Given the description of an element on the screen output the (x, y) to click on. 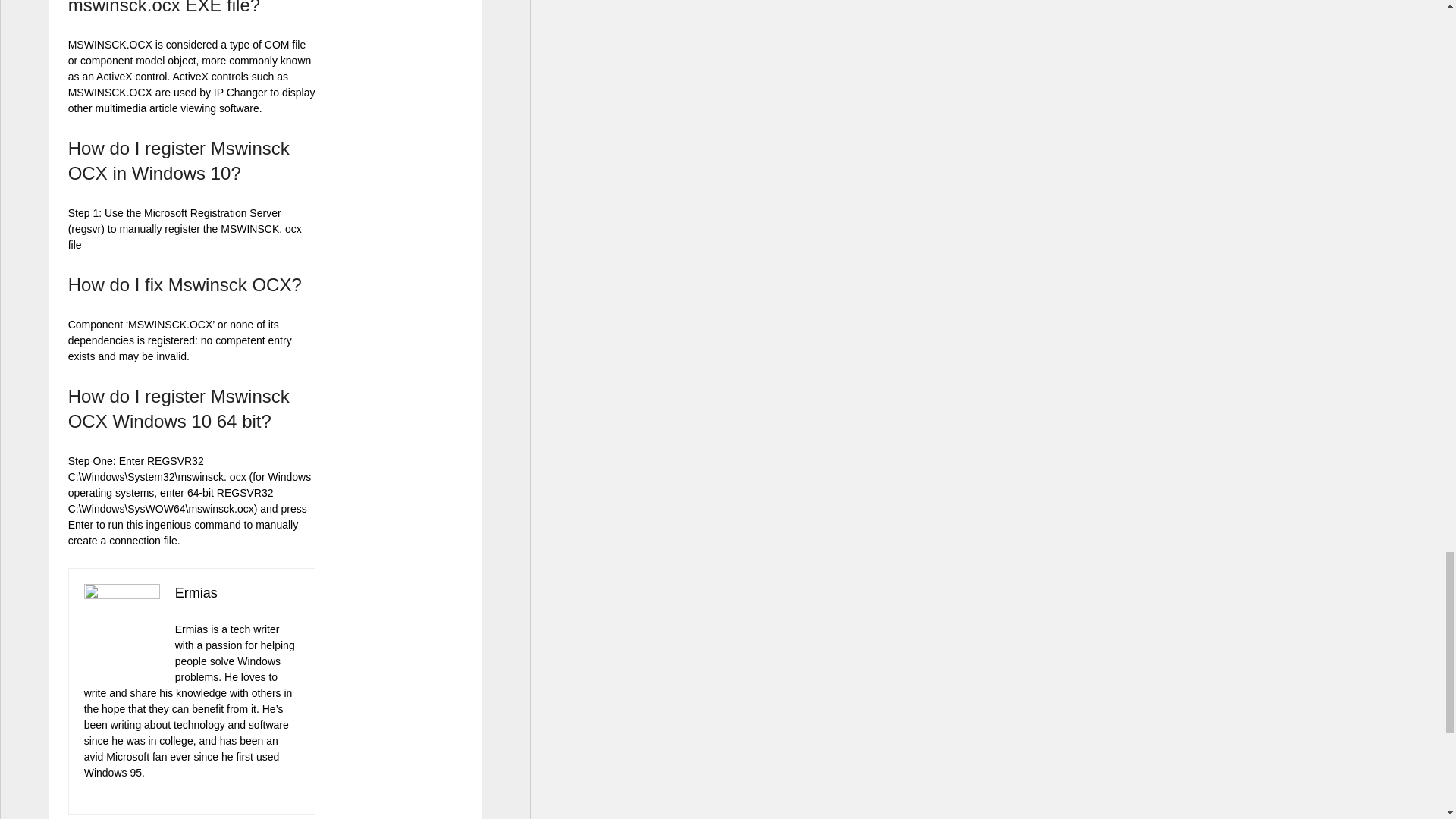
Ermias (195, 592)
